Given the description of an element on the screen output the (x, y) to click on. 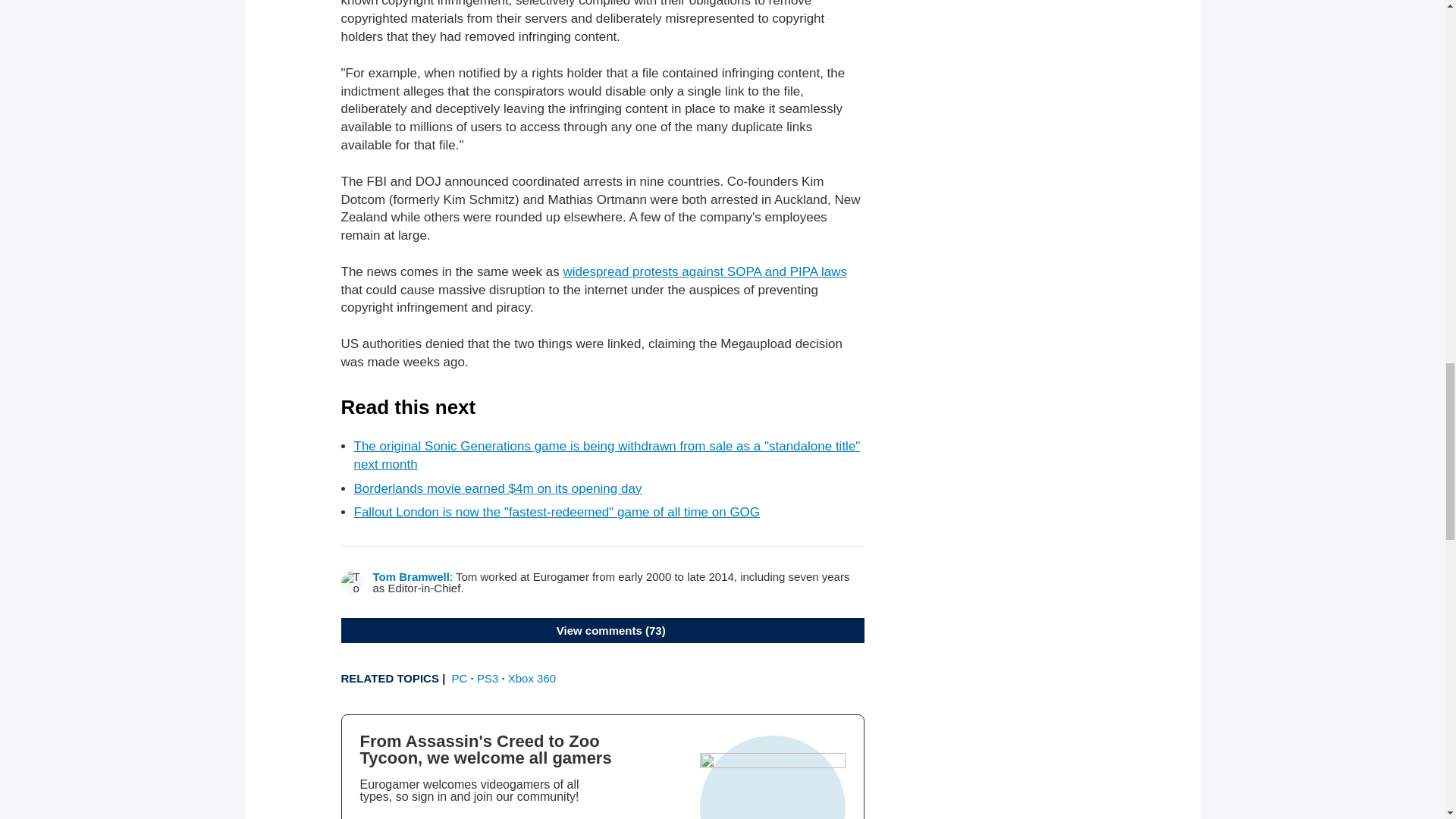
Tom Bramwell (410, 576)
widespread protests against SOPA and PIPA laws (704, 271)
Xbox 360 (532, 677)
PS3 (487, 677)
PC (459, 677)
